Given the description of an element on the screen output the (x, y) to click on. 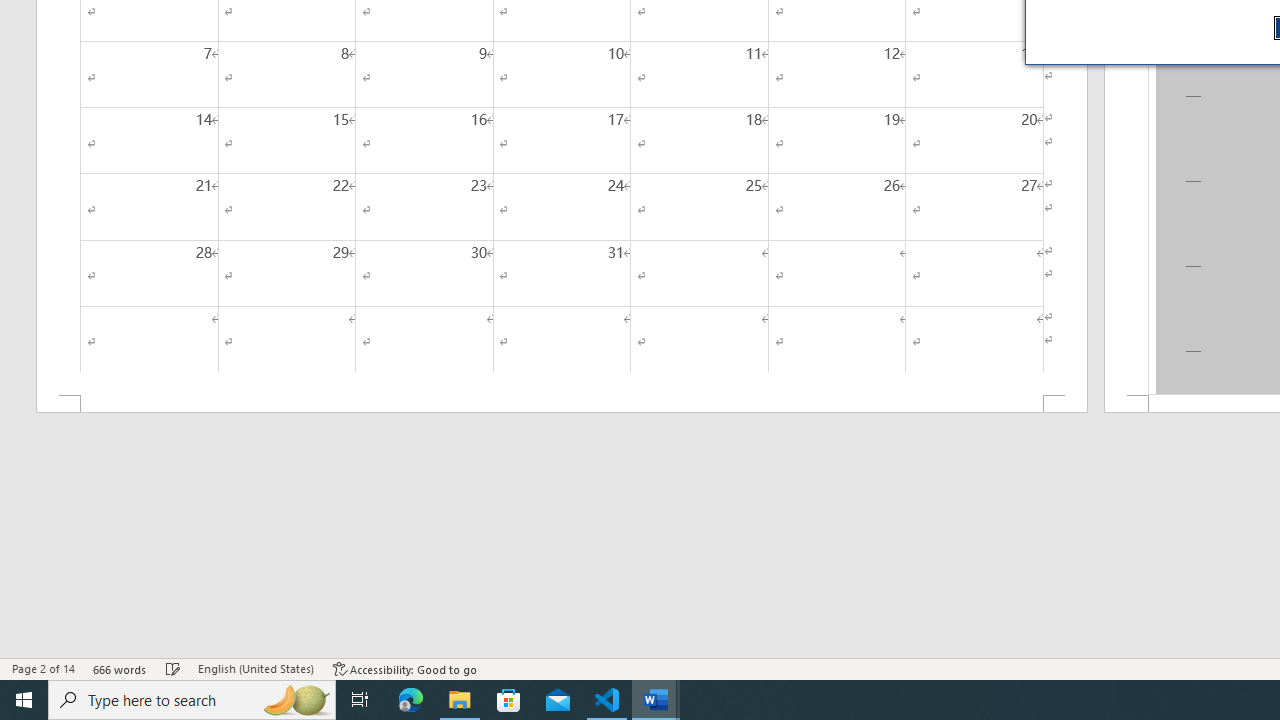
Type here to search (191, 699)
Word Count 666 words (119, 668)
